Given the description of an element on the screen output the (x, y) to click on. 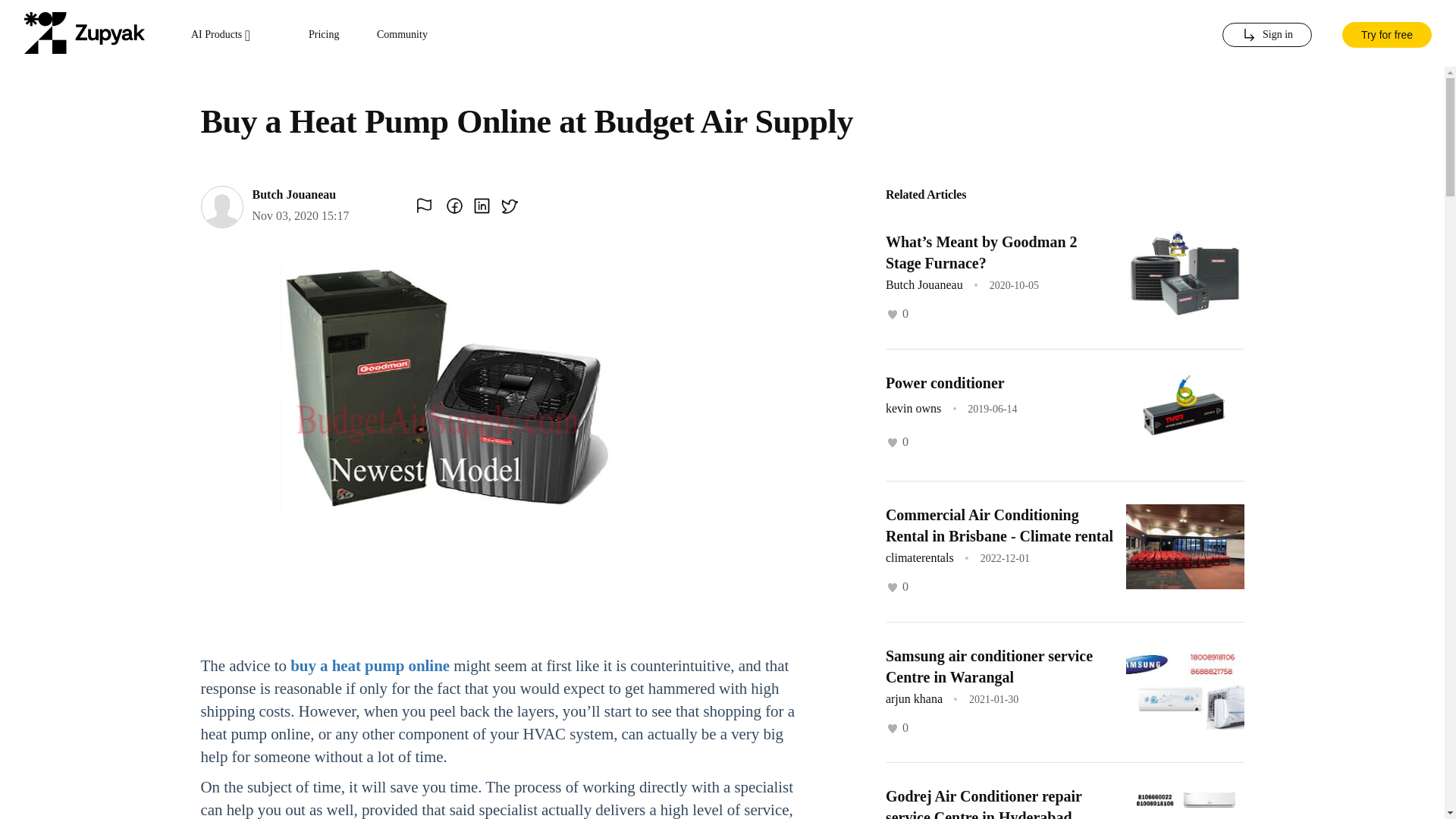
 Sign in (1267, 34)
Community (402, 34)
buy a heat pump online (369, 665)
Samsung air conditioner service Centre in Warangal (989, 666)
Try for free (1386, 33)
Power conditioner (944, 382)
Godrej Air Conditioner repair service Centre in Hyderabad (983, 803)
Pricing (323, 34)
